Given the description of an element on the screen output the (x, y) to click on. 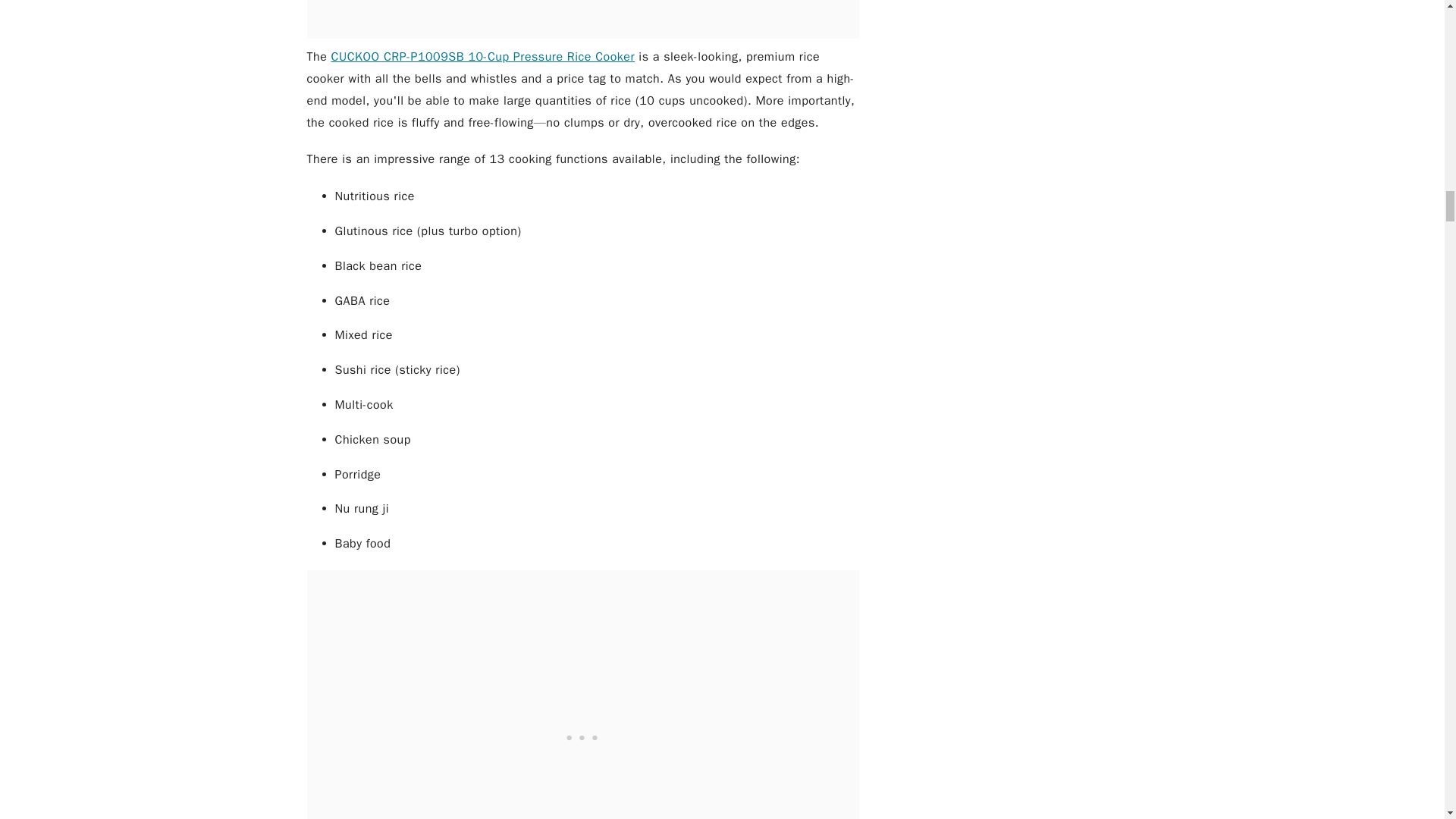
CUCKOO CRP-P1009SB 10-Cup Pressure Rice Cooker (482, 56)
